Given the description of an element on the screen output the (x, y) to click on. 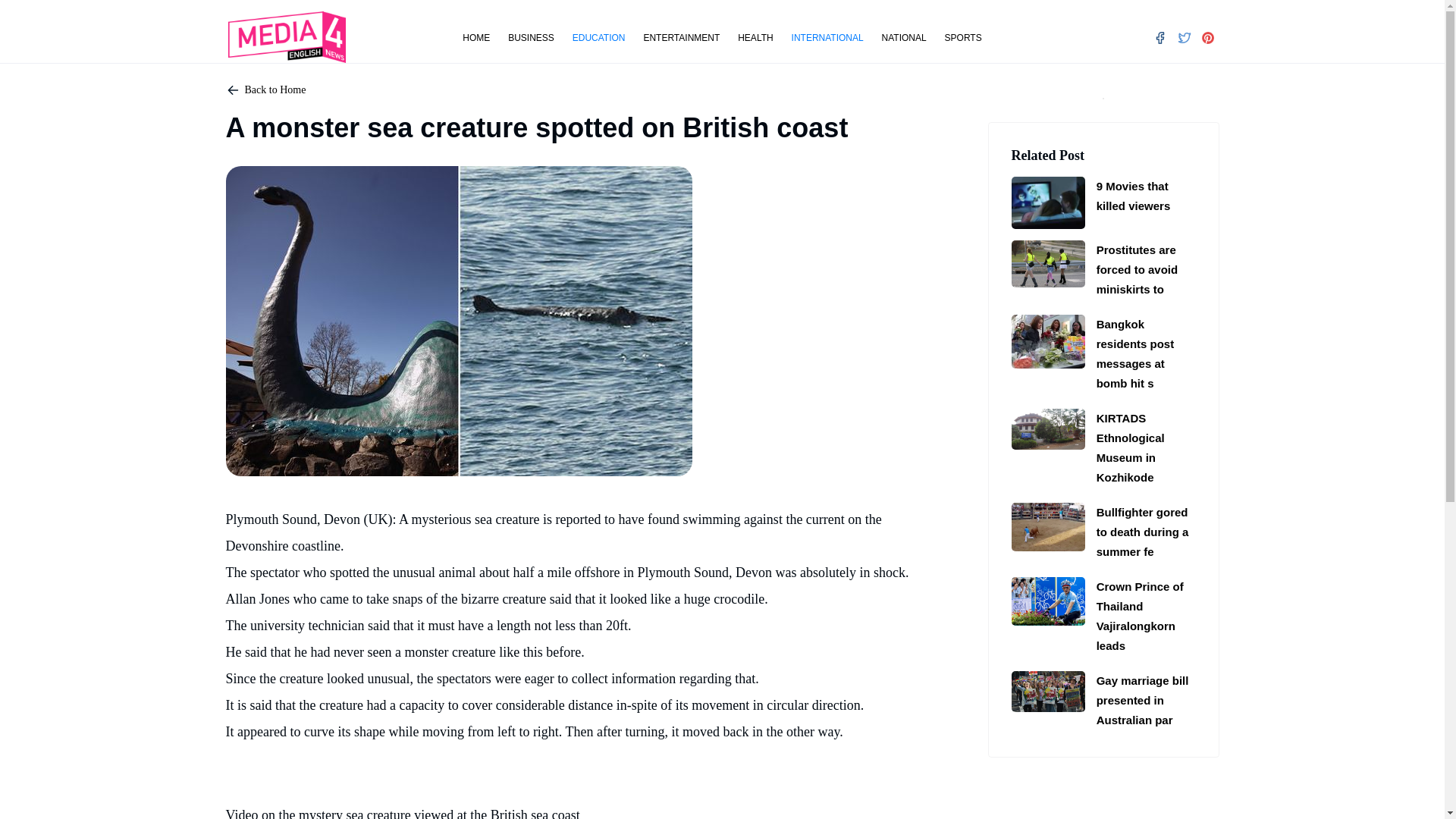
NATIONAL (904, 33)
Bangkok residents post messages at bomb hit s (1139, 353)
KIRTADS Ethnological Museum in Kozhikode (1139, 446)
Back to Home (274, 89)
Health (755, 33)
KIRTADS Ethnological Museum in Kozhikode (1047, 428)
Gay marriage bill presented in Australian parliament (1047, 690)
9 Movies that killed viewers (1047, 202)
National (904, 33)
BUSINESS (531, 33)
ENTERTAINMENT (680, 33)
Business (531, 33)
Prostitutes are forced to avoid miniskirts to (1139, 268)
Bullfighter gored to death during a summer festival in Spain (1047, 526)
9 Movies that killed viewers (1139, 196)
